Given the description of an element on the screen output the (x, y) to click on. 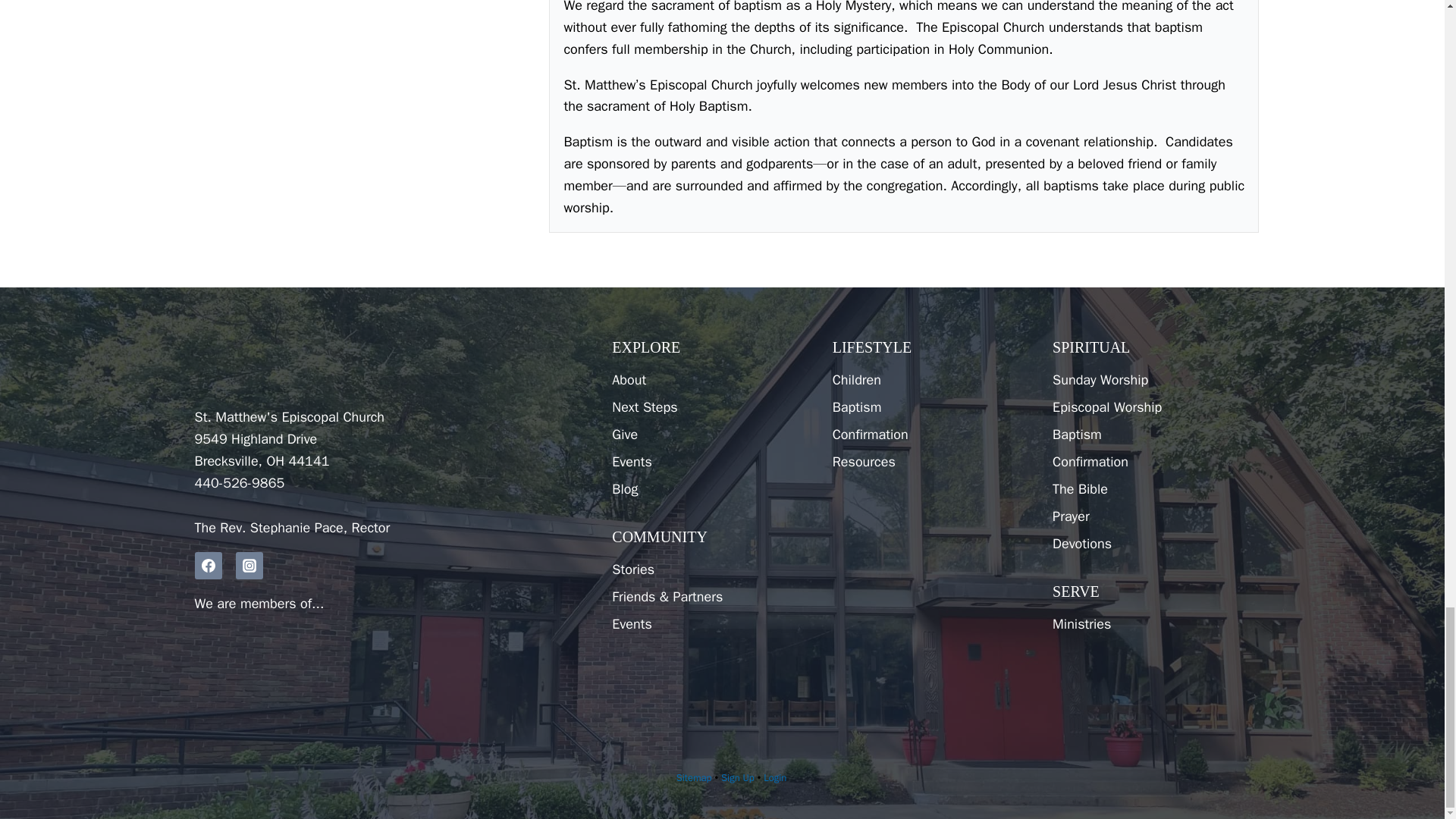
Ministries (1150, 624)
Confirmation (930, 433)
Prayer (1150, 515)
Sunday Worship (1150, 379)
Episcopal Worship (1150, 406)
Give (710, 433)
About (710, 379)
Next Steps (710, 406)
The Bible (1150, 488)
Blog (710, 488)
Confirmation (1150, 461)
Devotions (1150, 543)
Baptism (1150, 433)
Events (710, 624)
Resources (930, 461)
